Given the description of an element on the screen output the (x, y) to click on. 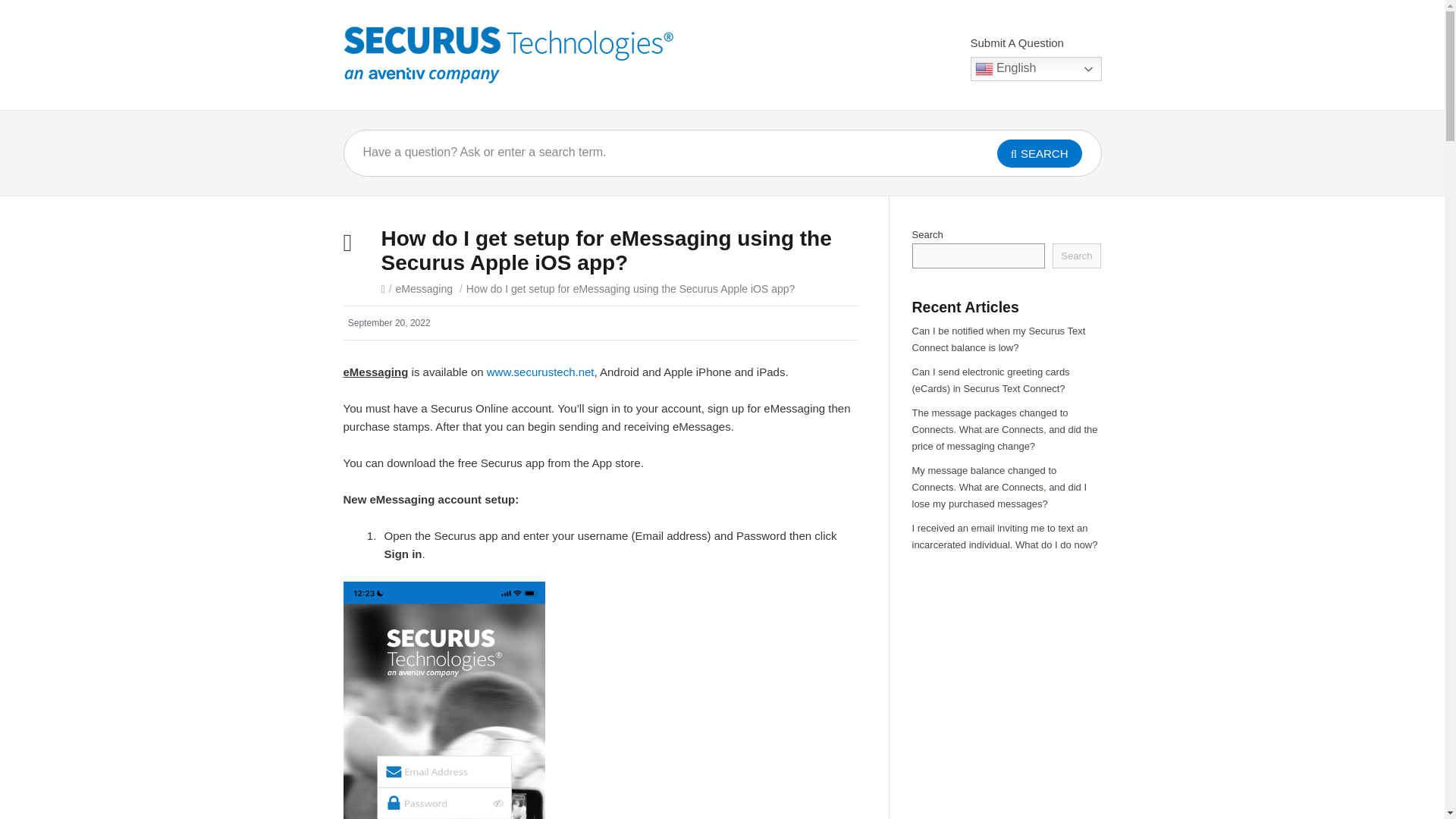
Search (1076, 255)
English (1036, 68)
Submit A Question (1017, 42)
www.securustech.net (540, 371)
eMessaging (424, 288)
Securus Help Center (507, 54)
SEARCH (1039, 153)
View all posts in eMessaging (424, 288)
